Given the description of an element on the screen output the (x, y) to click on. 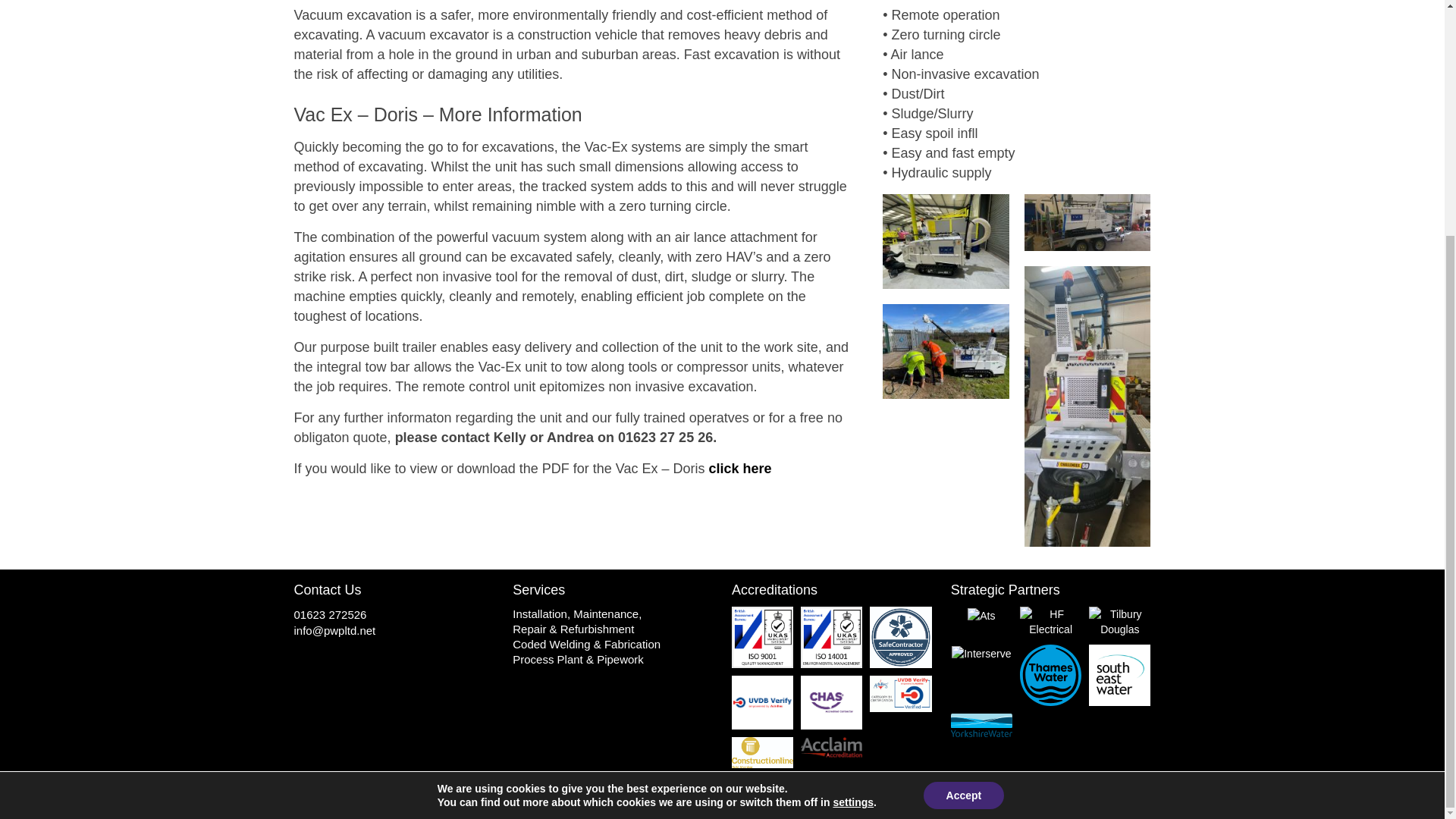
01623 272526 (330, 614)
CHAS Accredited Contractor (830, 702)
Interserve (981, 652)
click here (739, 468)
Ats (981, 615)
Achilles (900, 693)
ISO 9001 Badge (762, 637)
Constructionline (762, 752)
Safe Contractor Accreditation (900, 637)
Acclaim (830, 747)
ISO 14001 Badge (830, 637)
HF Electrical (1050, 621)
UVDB Verify Empowered by Achilles (762, 702)
